Given the description of an element on the screen output the (x, y) to click on. 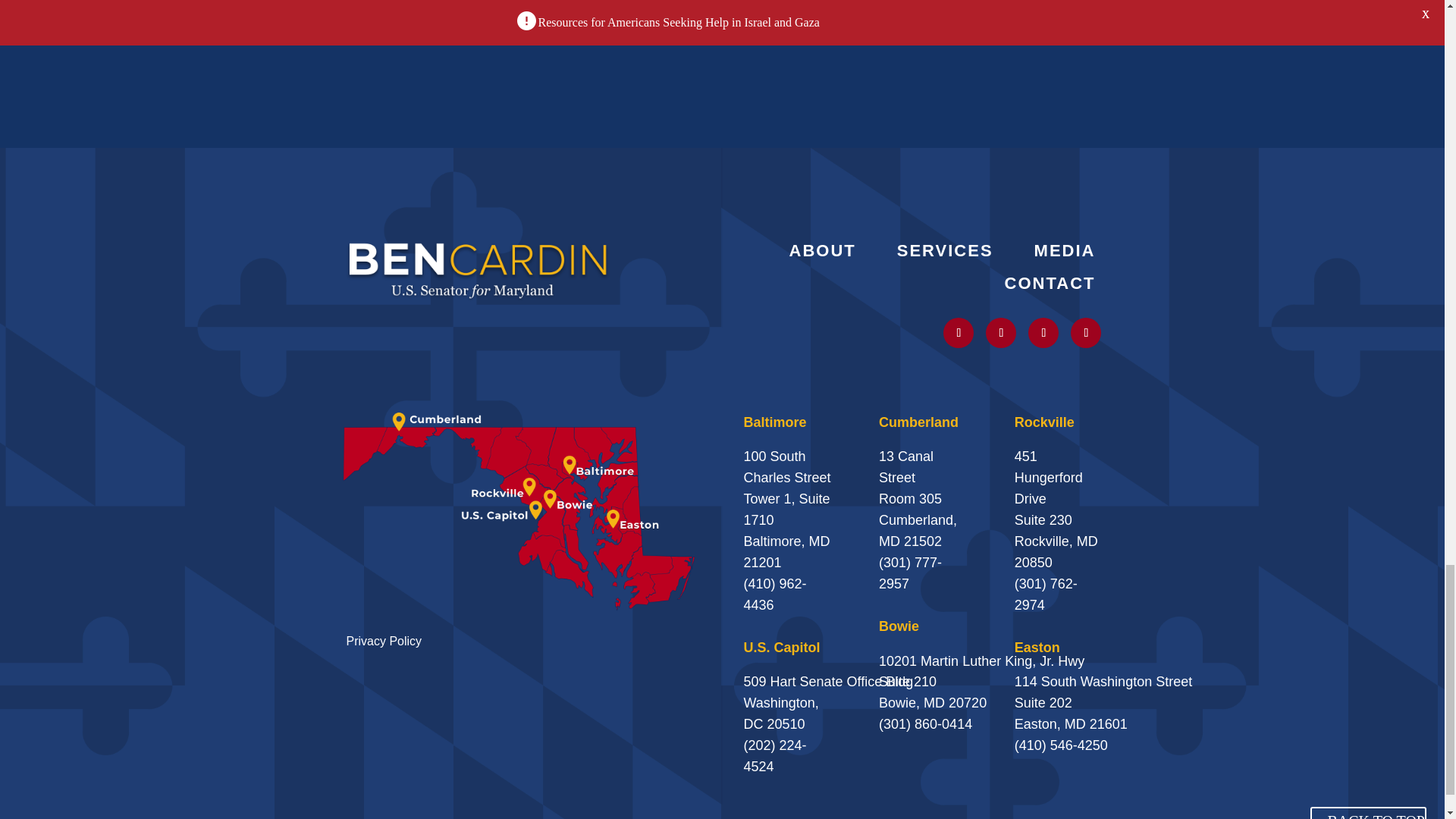
Footer (478, 268)
Follow on Youtube (1042, 332)
Follow on Instagram (1000, 332)
Privacy Policy (384, 640)
Follow on X (958, 332)
Follow on Facebook (1085, 332)
